Given the description of an element on the screen output the (x, y) to click on. 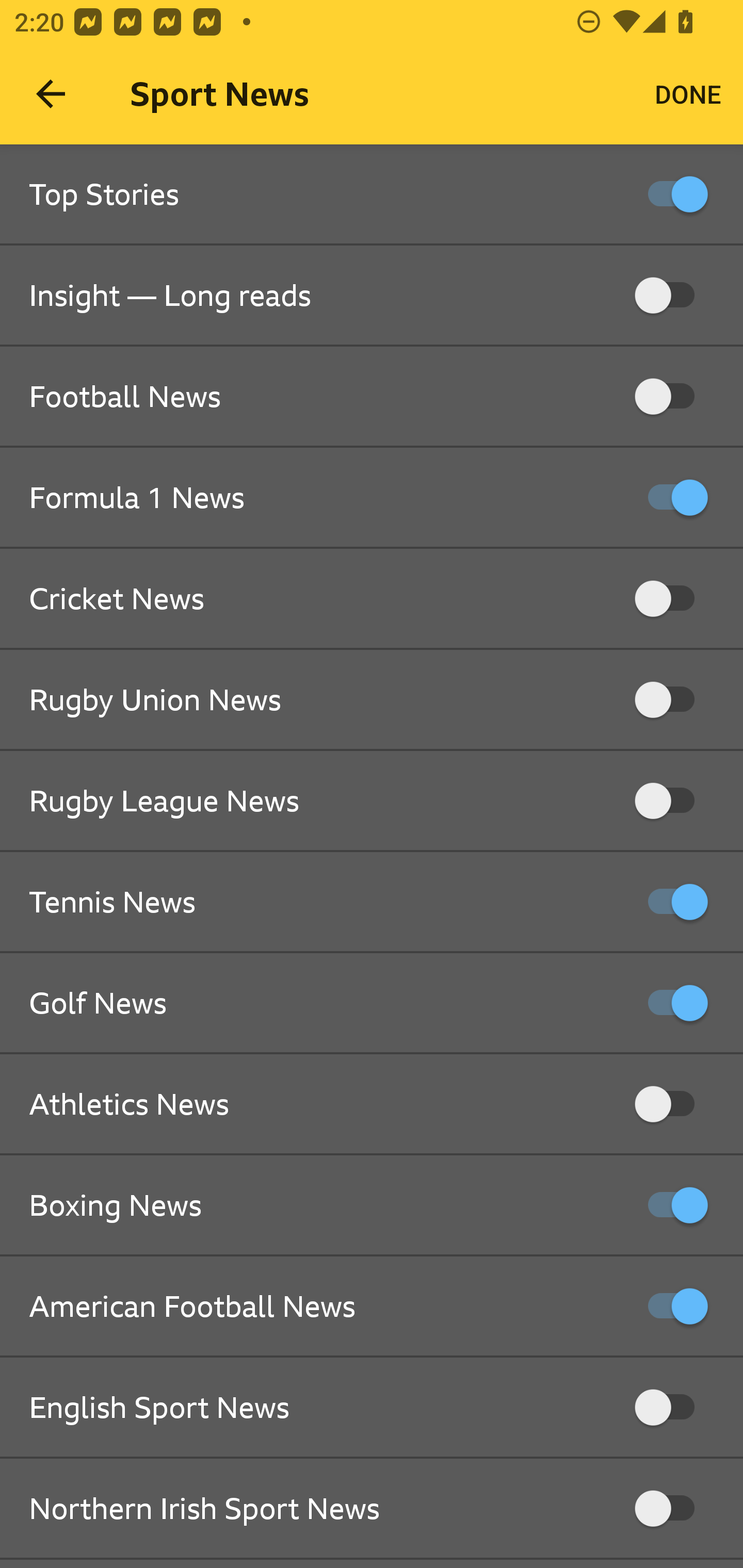
Navigate up (50, 93)
DONE (688, 93)
Top Stories, ON, Switch Top Stories (371, 195)
Football News, OFF, Switch Football News (371, 397)
Formula 1 News, ON, Switch Formula 1 News (371, 498)
Cricket News, OFF, Switch Cricket News (371, 598)
Rugby Union News, OFF, Switch Rugby Union News (371, 700)
Rugby League News, OFF, Switch Rugby League News (371, 801)
Tennis News, ON, Switch Tennis News (371, 902)
Golf News, ON, Switch Golf News (371, 1003)
Athletics News, OFF, Switch Athletics News (371, 1104)
Boxing News, ON, Switch Boxing News (371, 1205)
English Sport News, OFF, Switch English Sport News (371, 1407)
